Given the description of an element on the screen output the (x, y) to click on. 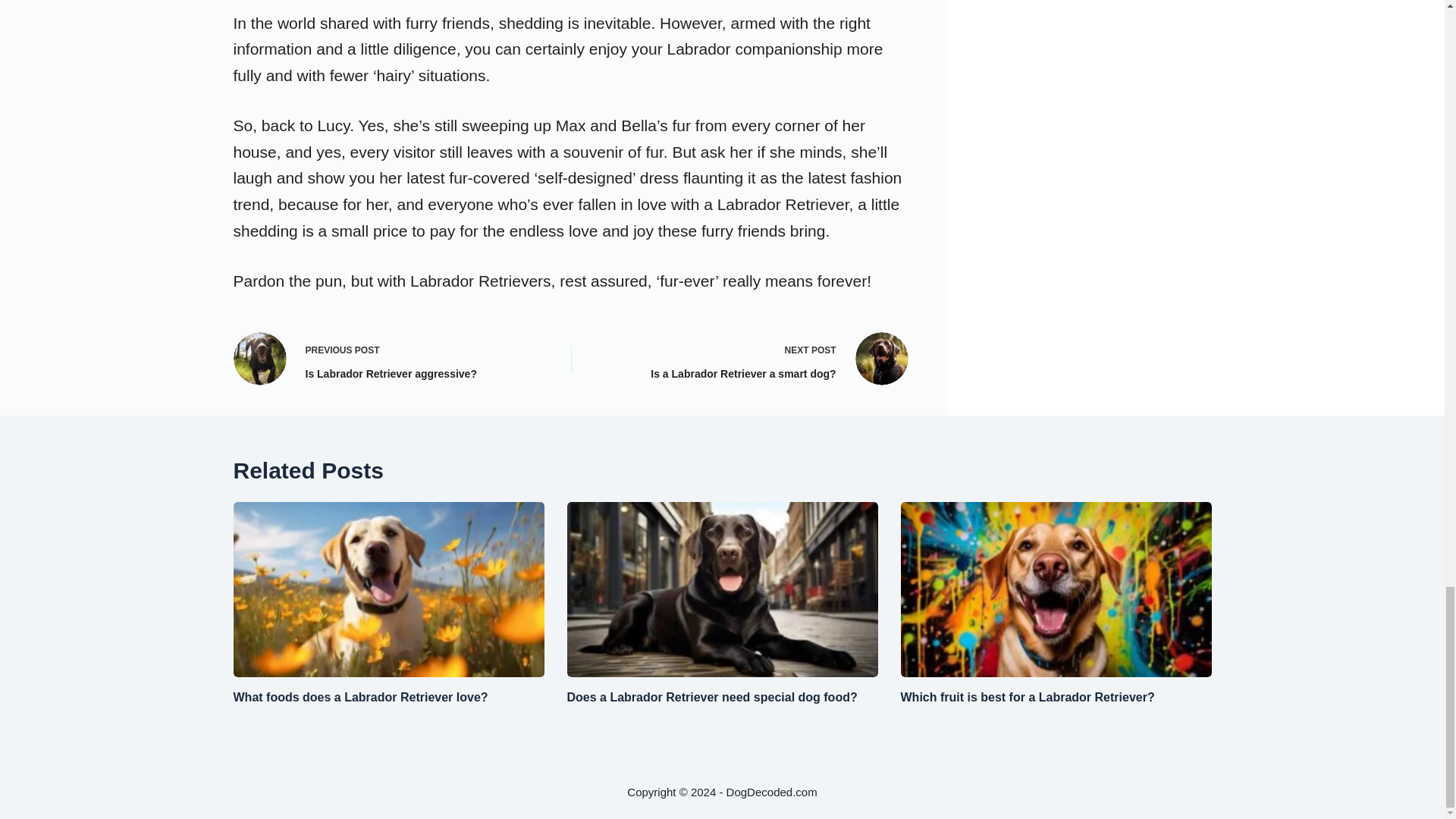
Which fruit is best for a Labrador Retriever? (751, 358)
What foods does a Labrador Retriever love? (387, 358)
Does a Labrador Retriever need special dog food? (1027, 697)
